Given the description of an element on the screen output the (x, y) to click on. 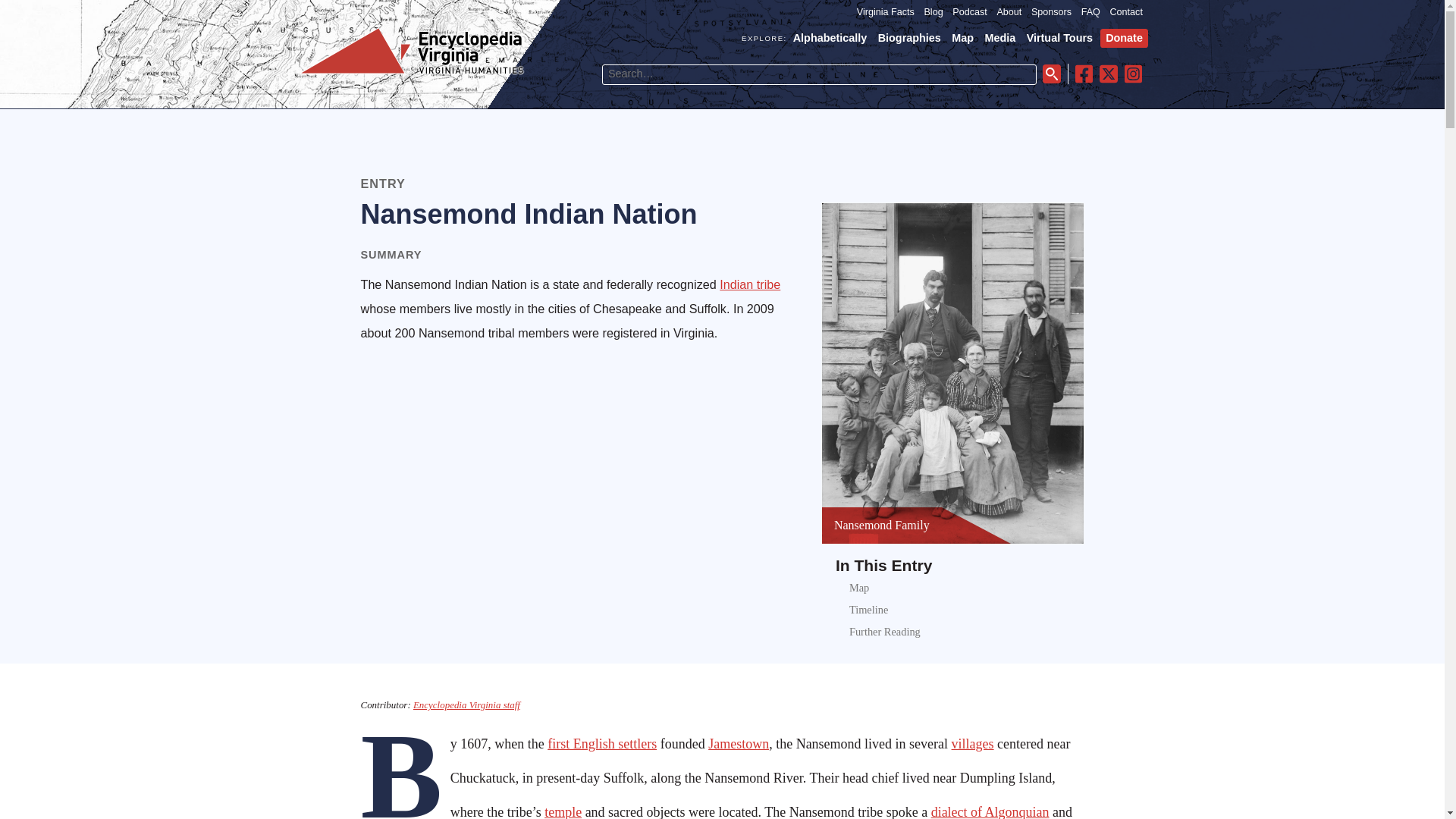
Biographies (908, 38)
first English settlers (601, 743)
Donate (1124, 37)
Map (963, 38)
Blog (932, 11)
Nansemond Family (882, 524)
Virtual Tours (1059, 38)
Further Reading (884, 631)
Jamestown (737, 743)
FAQ (1090, 11)
